Given the description of an element on the screen output the (x, y) to click on. 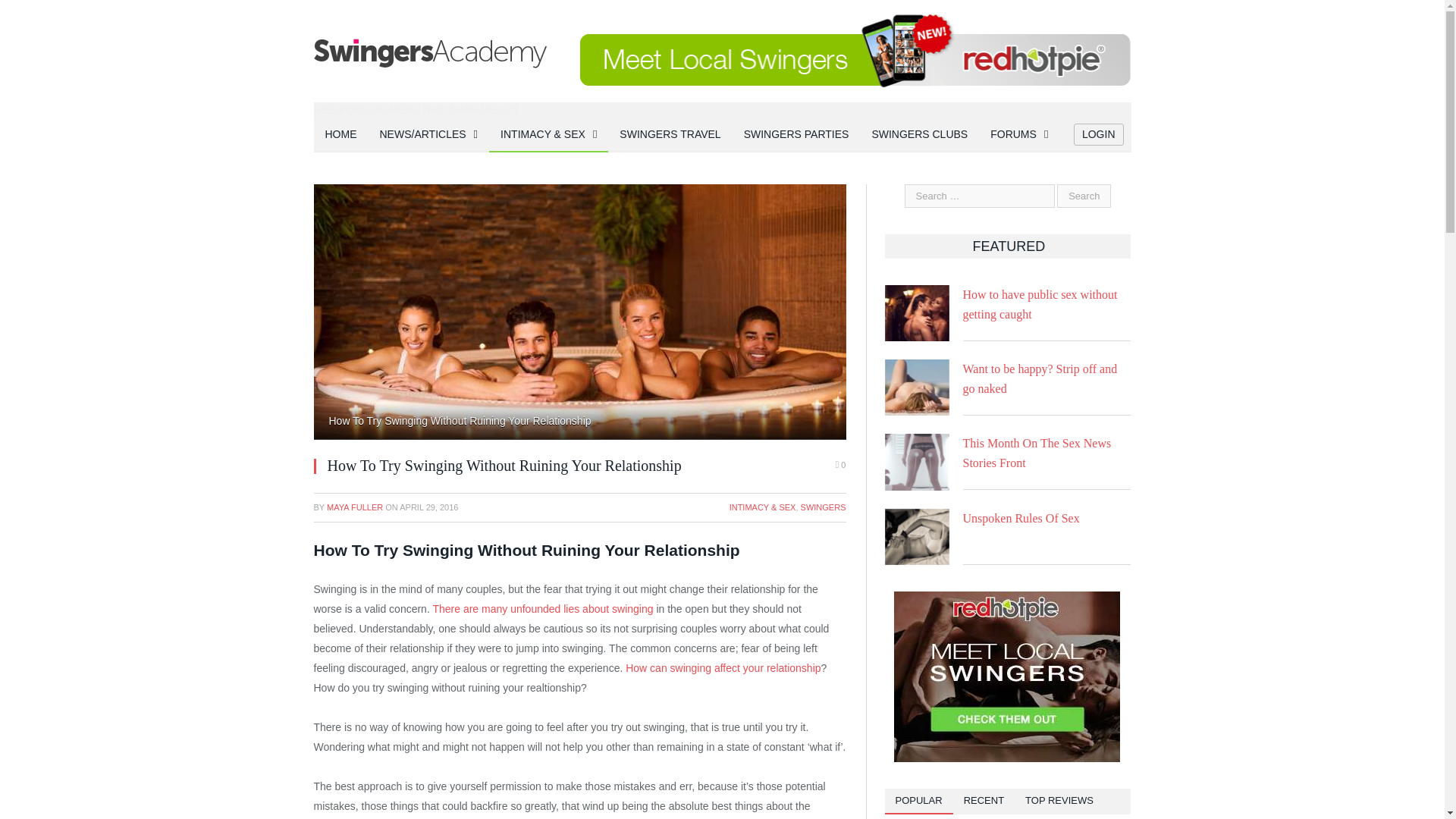
Search (1083, 196)
Swingers Academy (430, 51)
HOME (341, 134)
Search (1083, 196)
